Given the description of an element on the screen output the (x, y) to click on. 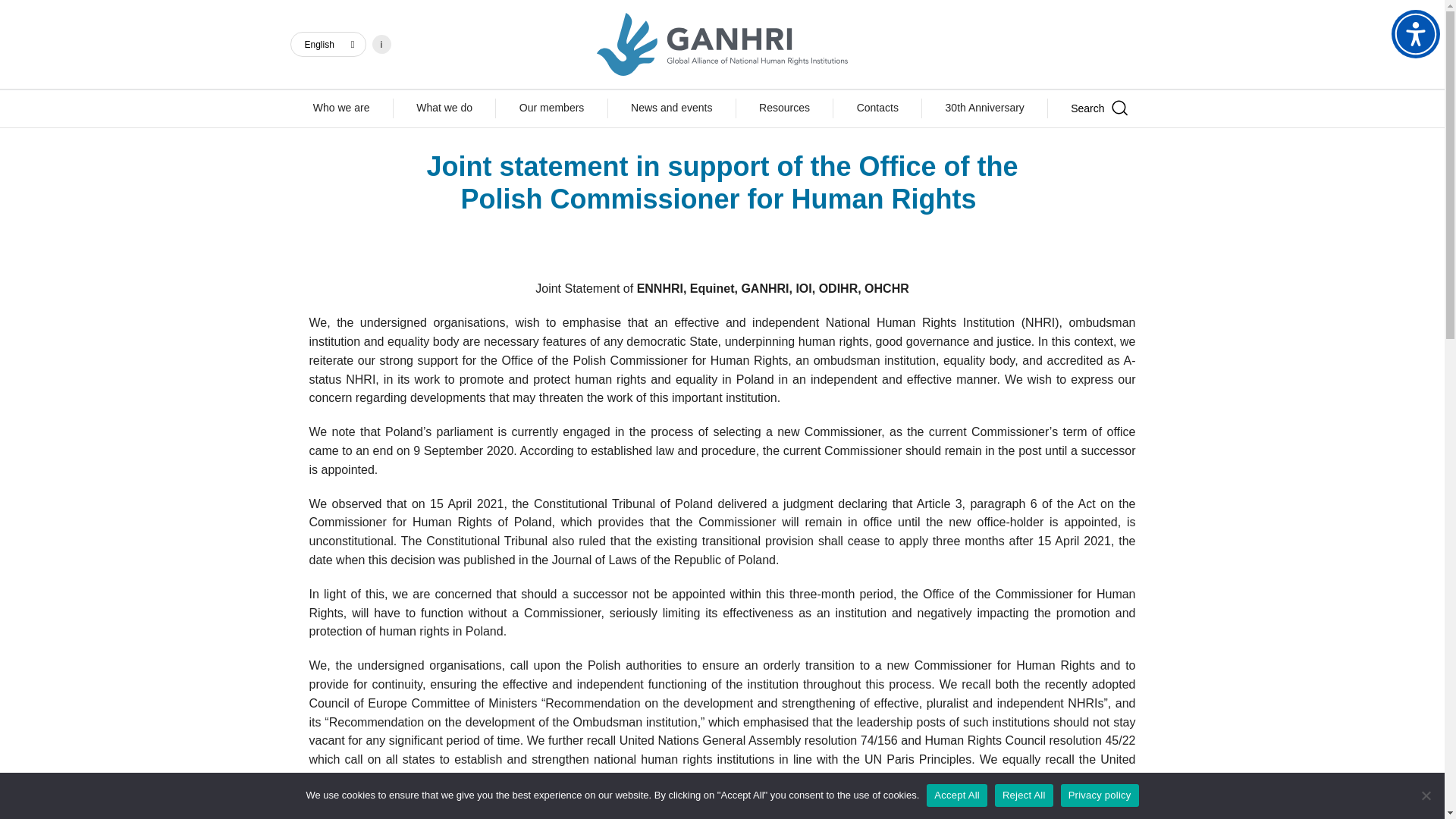
English (327, 43)
Accessibility Menu (1415, 33)
i (380, 44)
What we do (444, 107)
Who we are (340, 107)
Who we are (340, 107)
